Given the description of an element on the screen output the (x, y) to click on. 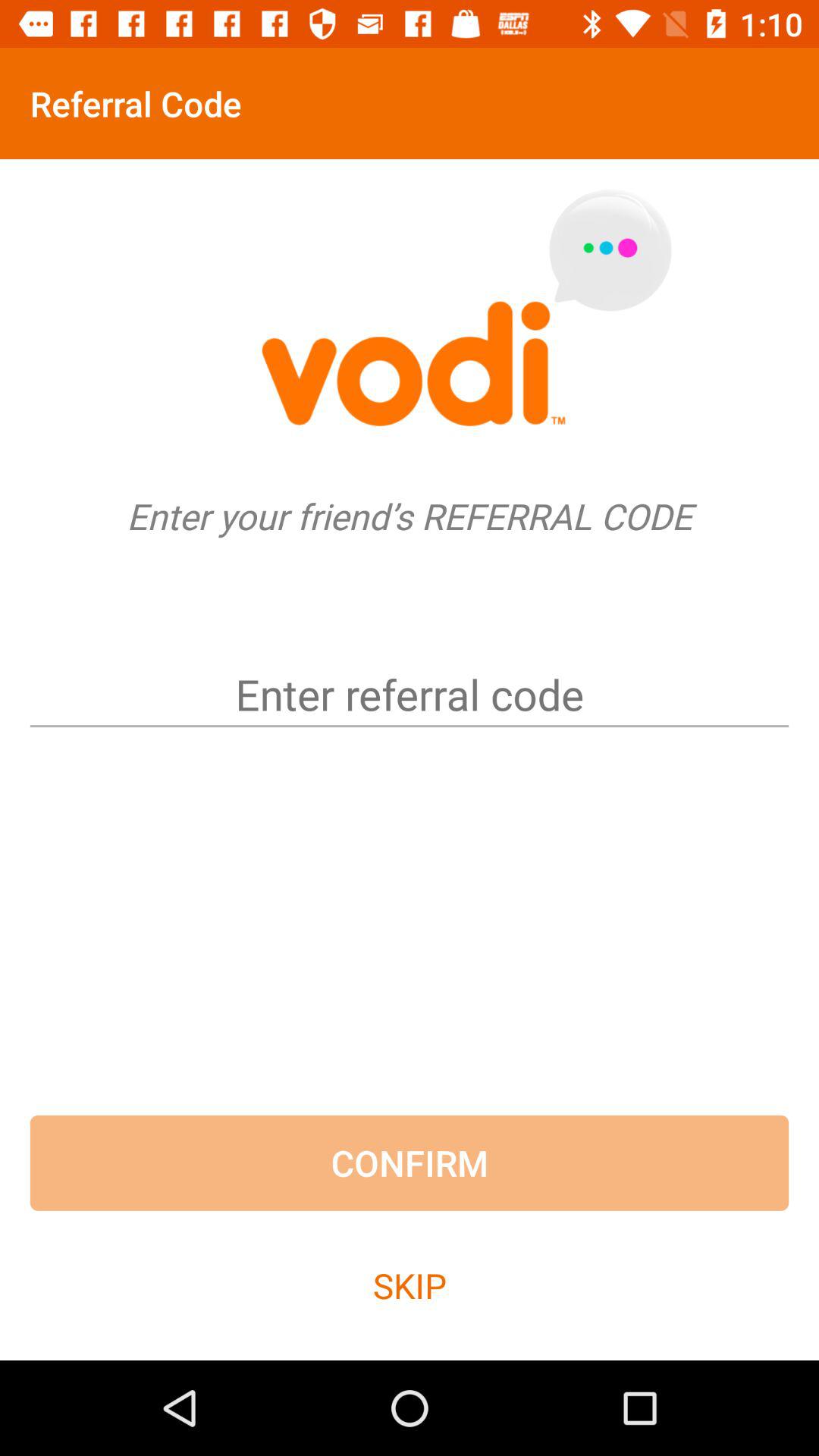
select skip item (409, 1285)
